Given the description of an element on the screen output the (x, y) to click on. 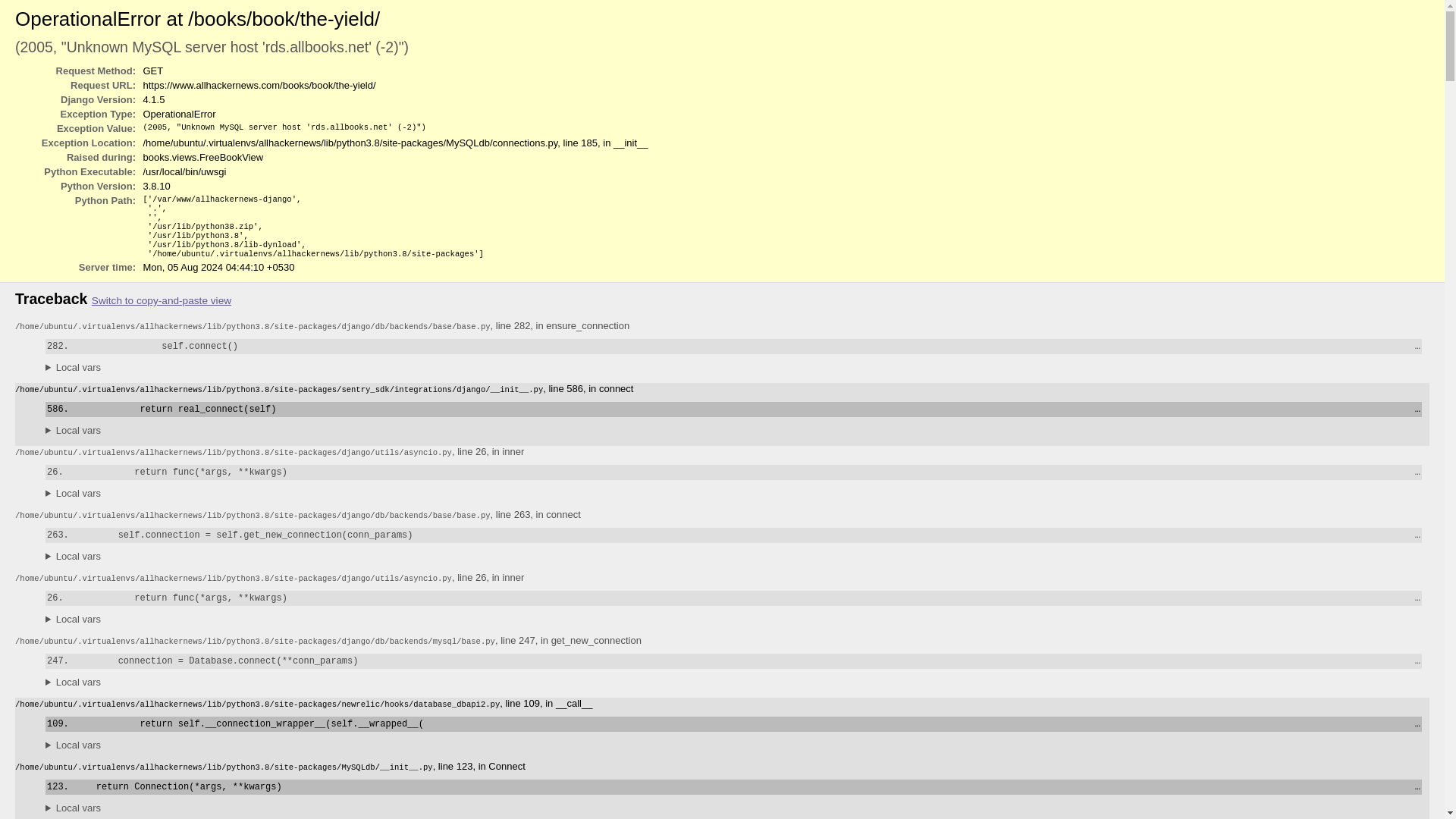
Switch to copy-and-paste view (161, 300)
